Given the description of an element on the screen output the (x, y) to click on. 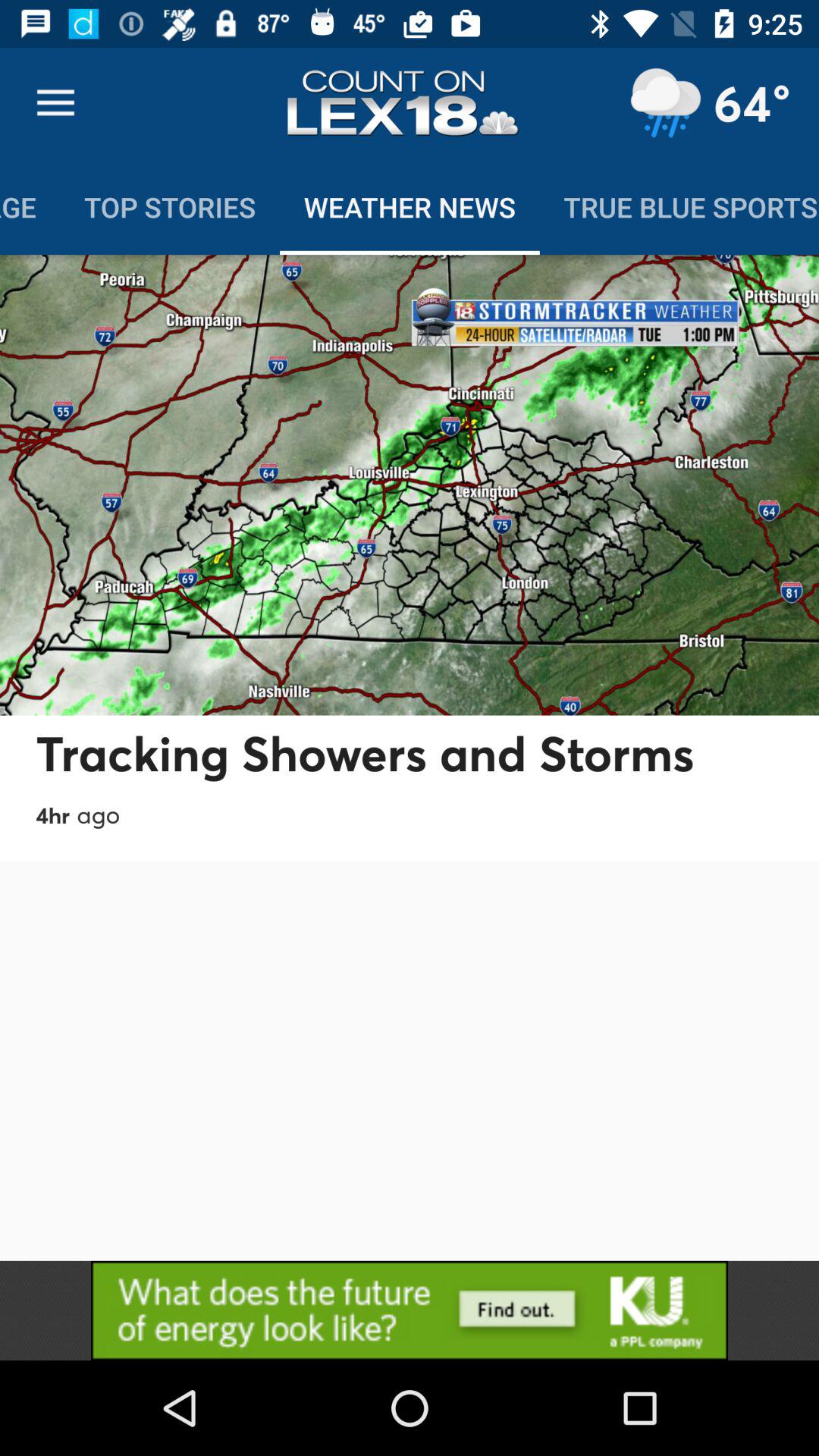
go to location (665, 103)
